Given the description of an element on the screen output the (x, y) to click on. 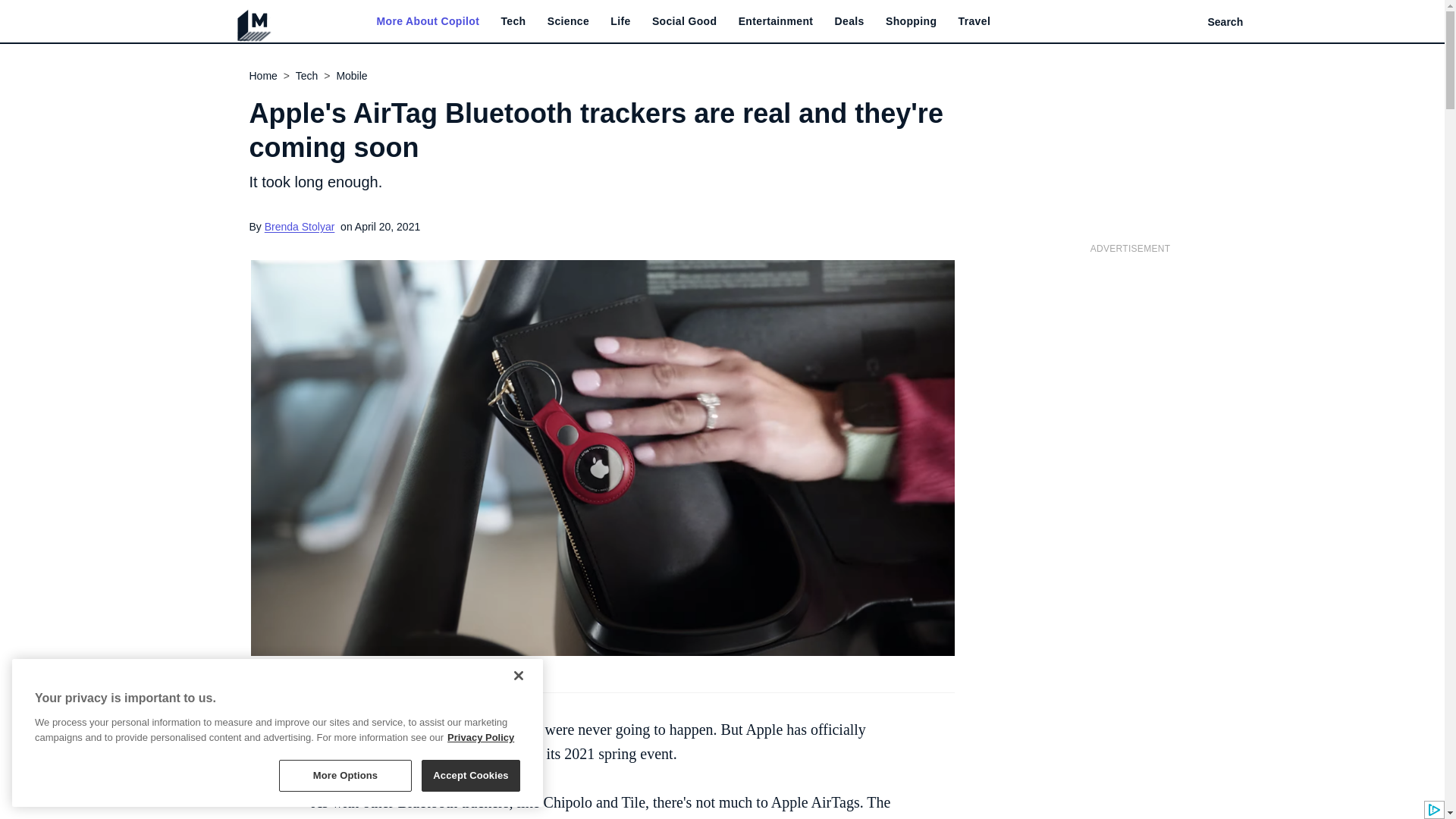
Life (620, 21)
Entertainment (775, 21)
Tech (512, 21)
Shopping (910, 21)
Social Good (684, 21)
More About Copilot (427, 21)
Deals (849, 21)
Travel (974, 21)
Science (568, 21)
